Given the description of an element on the screen output the (x, y) to click on. 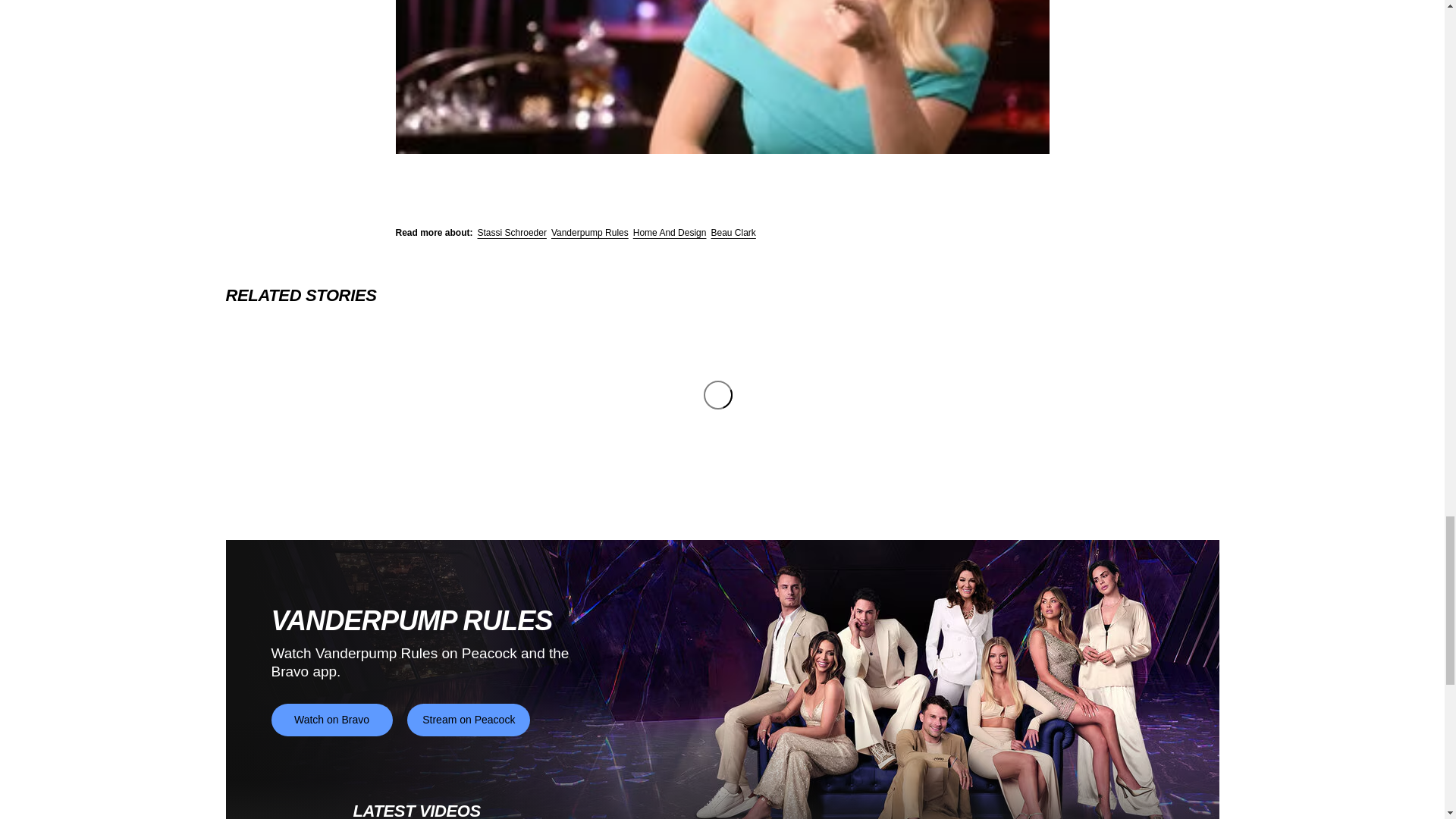
Home And Design (669, 232)
Vanderpump Rules (589, 232)
Stassi Schroeder (512, 232)
Beau Clark (732, 232)
